Given the description of an element on the screen output the (x, y) to click on. 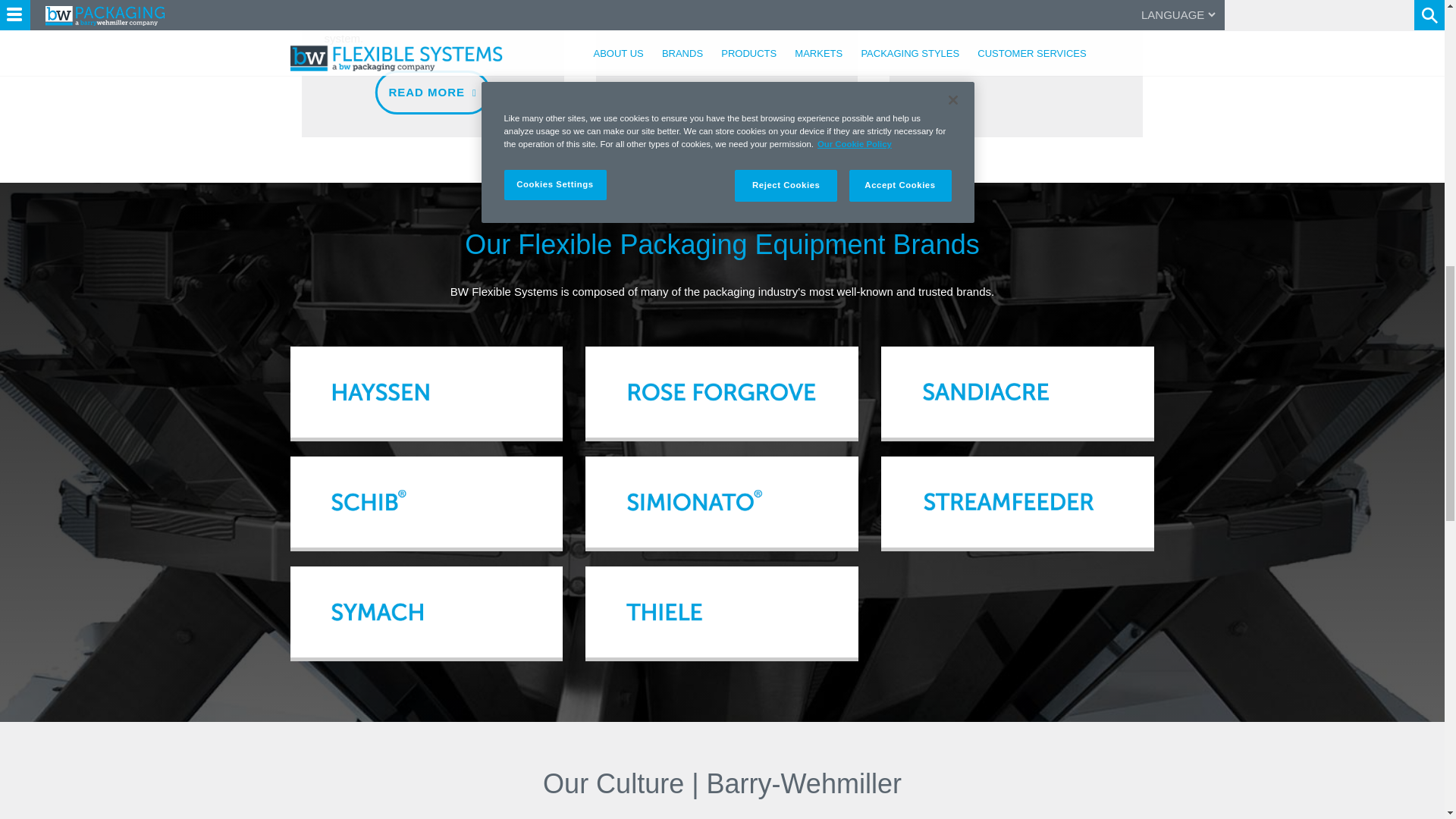
Streamfeeder (1018, 501)
